Given the description of an element on the screen output the (x, y) to click on. 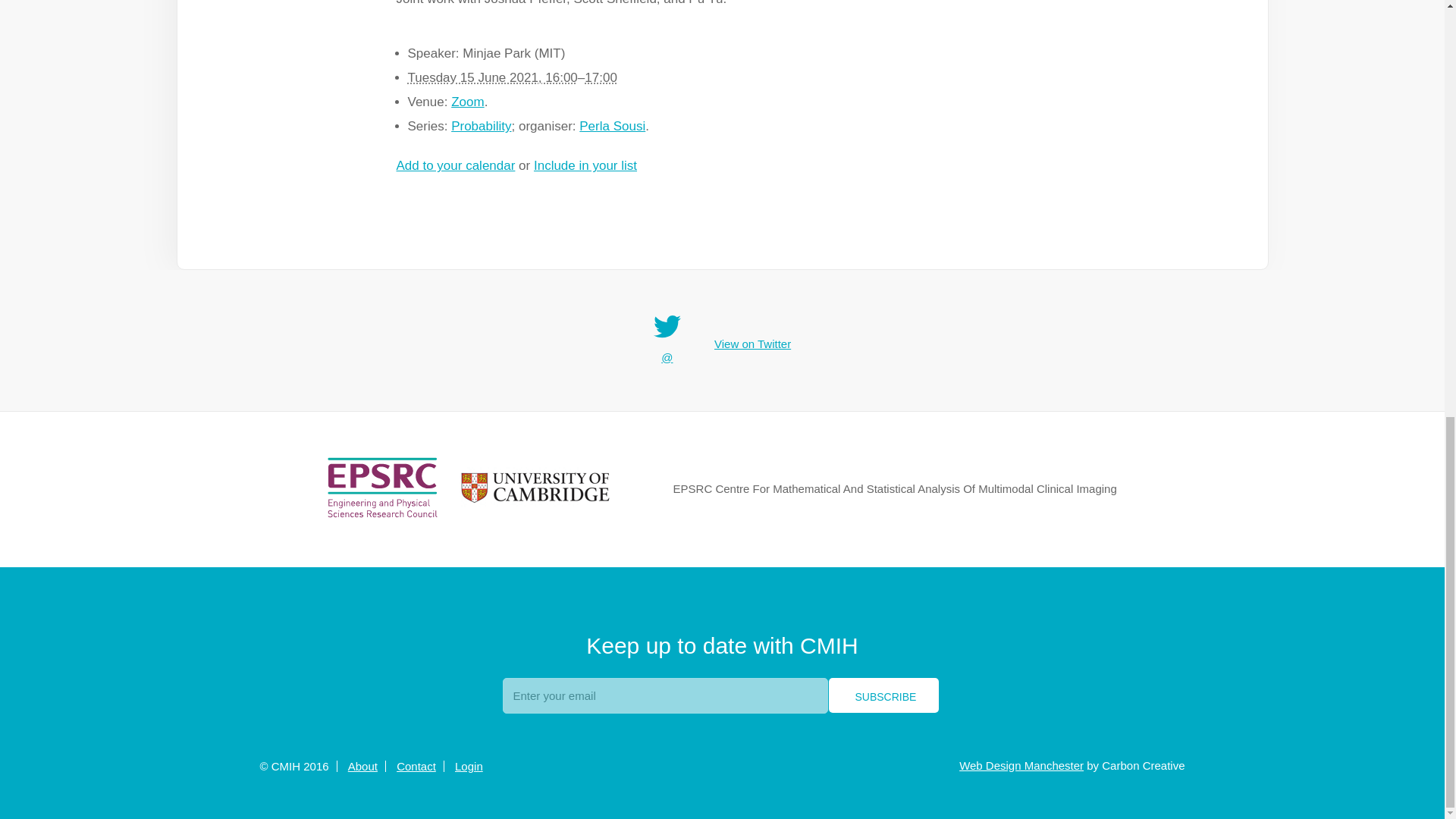
Add to your calendar (455, 165)
About (362, 766)
20210615T170000 (601, 77)
Subscribe (882, 695)
Perla Sousi (612, 125)
View on Twitter (752, 343)
Probability (481, 125)
Zoom (467, 101)
Include in your list (585, 165)
20210615T160000 (492, 77)
